Given the description of an element on the screen output the (x, y) to click on. 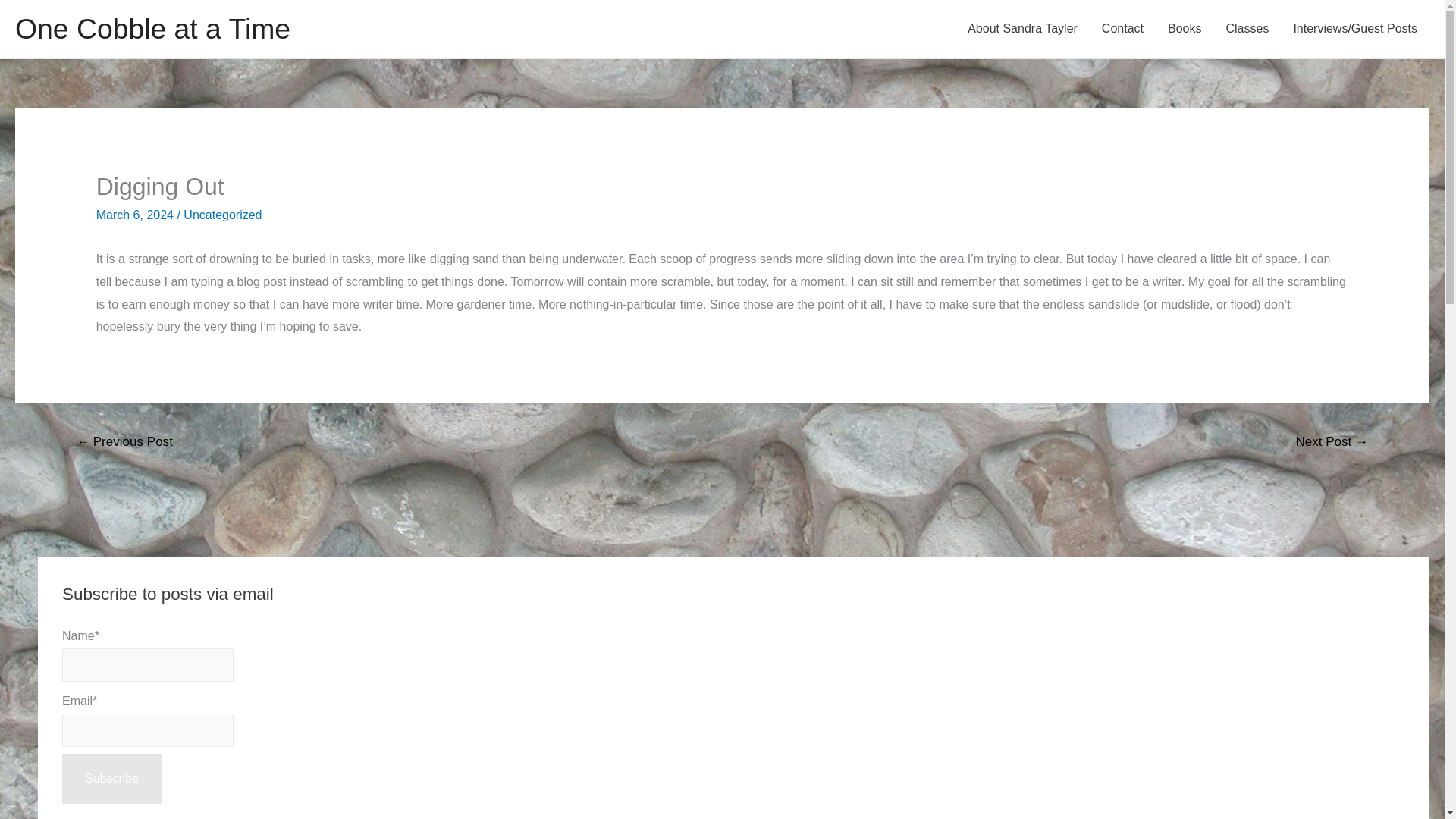
About Sandra Tayler (1022, 29)
Uncategorized (222, 214)
One Cobble at a Time (151, 29)
Classes (1246, 29)
Subscribe (111, 778)
Subscribe (111, 778)
Contact (1122, 29)
Books (1184, 29)
